Given the description of an element on the screen output the (x, y) to click on. 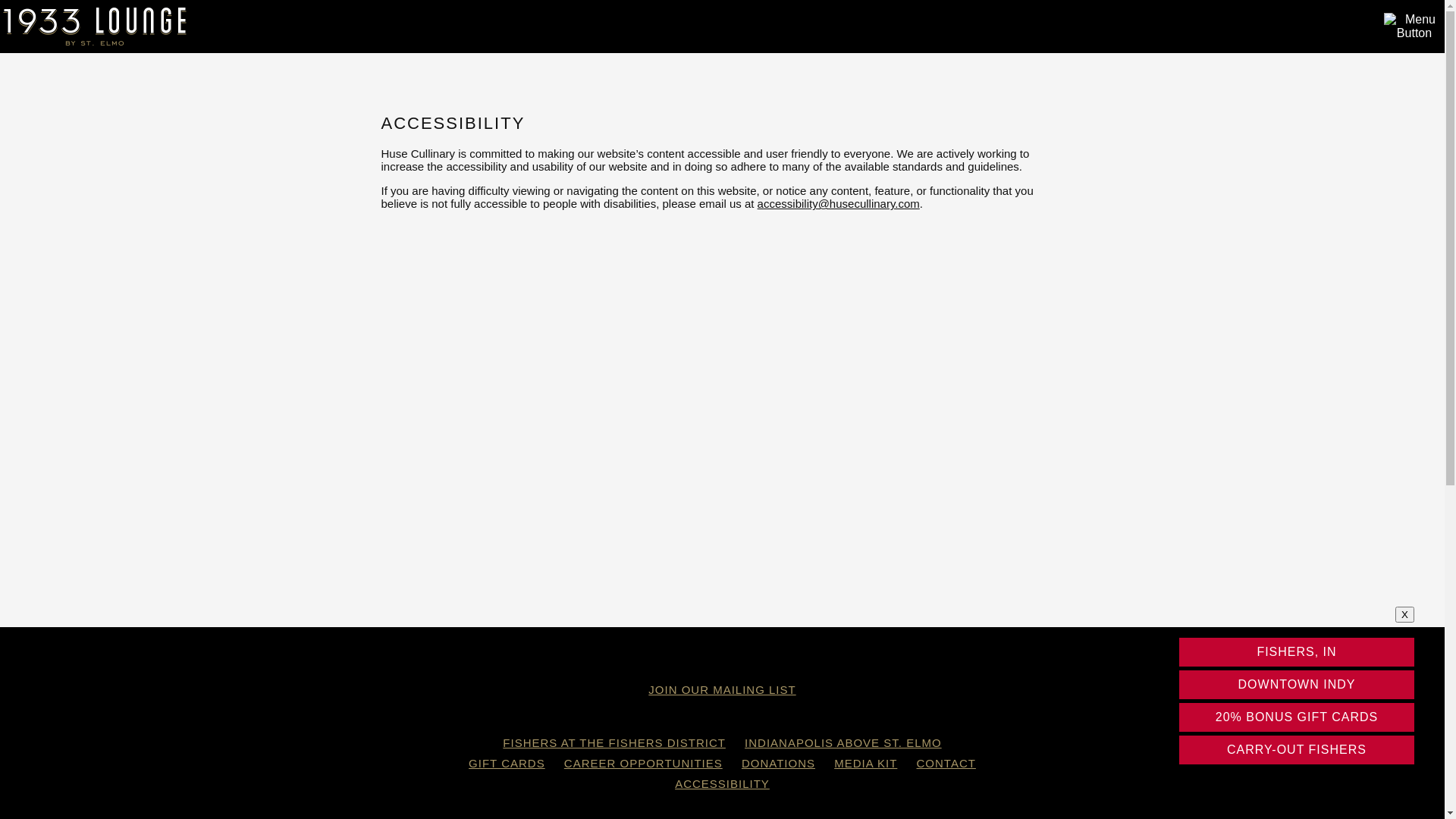
accessibility@husecullinary.com Element type: text (838, 203)
CAREER OPPORTUNITIES Element type: text (643, 763)
ACCESSIBILITY Element type: text (722, 783)
MEDIA KIT Element type: text (865, 763)
CONTACT Element type: text (946, 763)
X Element type: text (1404, 614)
DONATIONS Element type: text (778, 763)
FISHERS, IN Element type: text (1296, 651)
CARRY-OUT FISHERS Element type: text (1296, 749)
DOWNTOWN INDY Element type: text (1296, 684)
GIFT CARDS Element type: text (506, 763)
FISHERS AT THE FISHERS DISTRICT Element type: text (614, 742)
INDIANAPOLIS ABOVE ST. ELMO Element type: text (843, 742)
JOIN OUR MAILING LIST Element type: text (721, 689)
20% BONUS GIFT CARDS Element type: text (1296, 716)
